Given the description of an element on the screen output the (x, y) to click on. 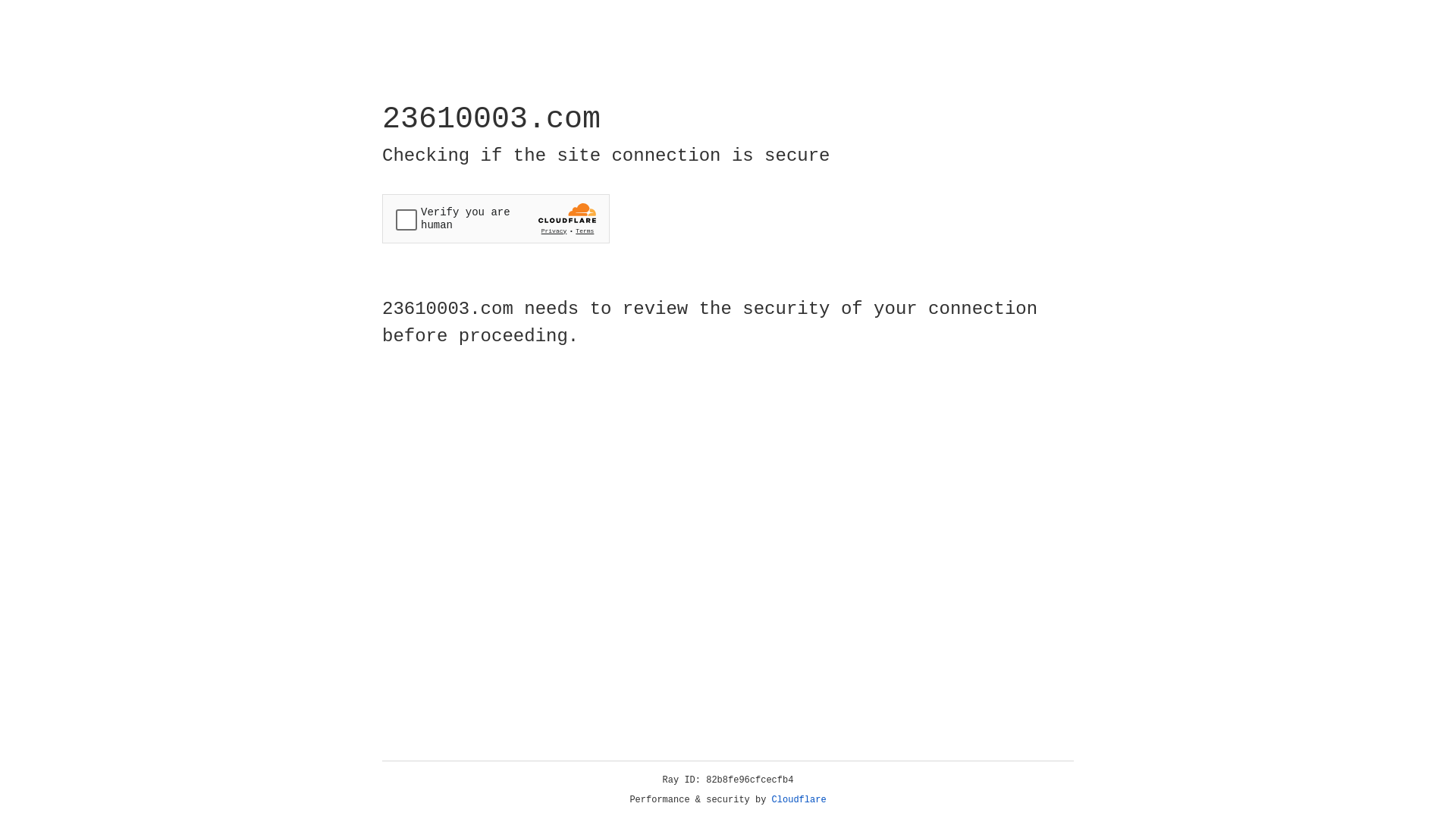
Widget containing a Cloudflare security challenge Element type: hover (495, 218)
Cloudflare Element type: text (798, 799)
